Given the description of an element on the screen output the (x, y) to click on. 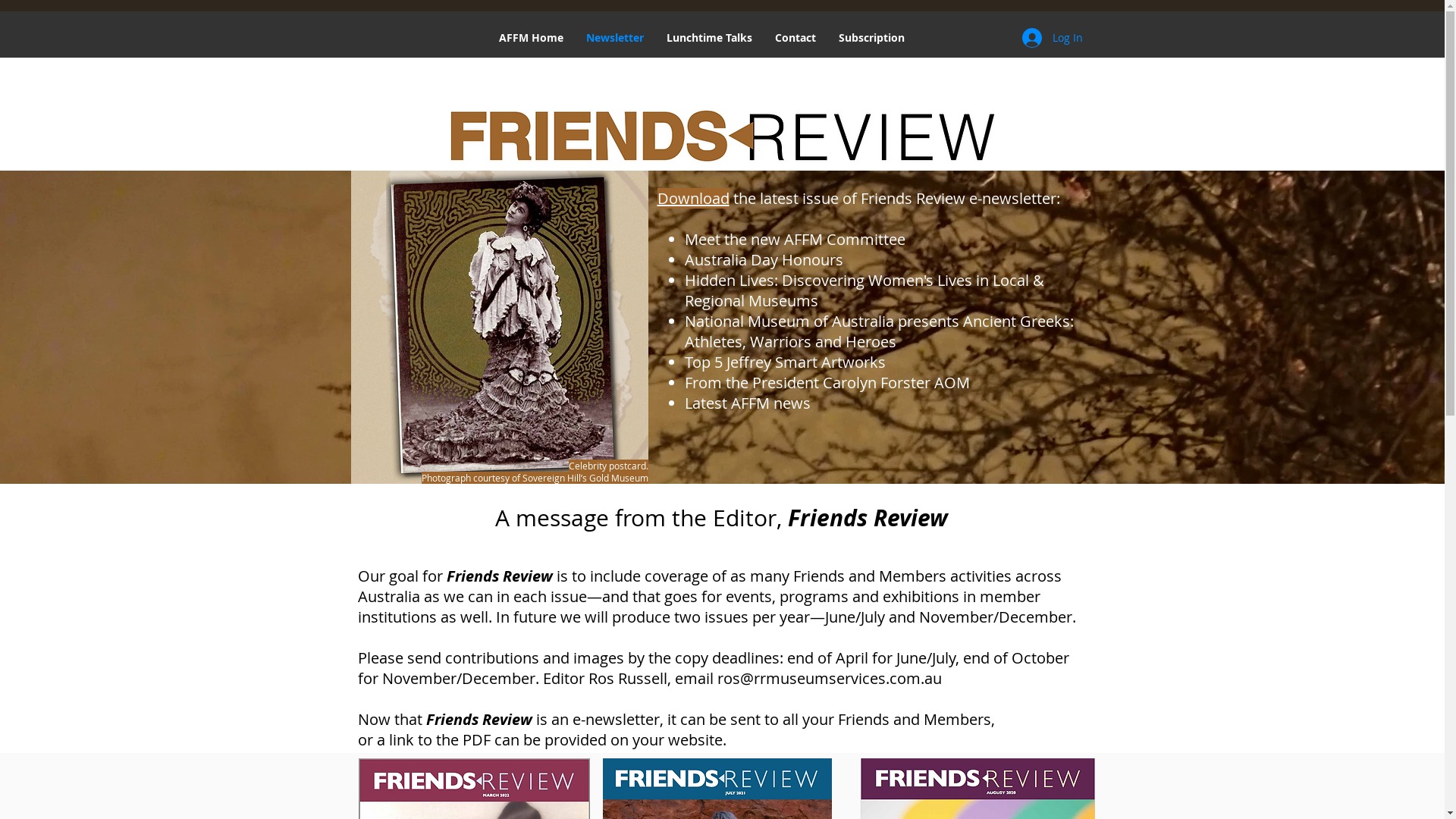
ros@rrmuseumservices.com.au Element type: text (829, 678)
Subscription Element type: text (870, 37)
AFFM Home Element type: text (530, 37)
Lunchtime Talks Element type: text (709, 37)
Log In Element type: text (1052, 37)
friends review banner.png Element type: hover (722, 135)
Contact Element type: text (794, 37)
Newsletter Element type: text (614, 37)
